Given the description of an element on the screen output the (x, y) to click on. 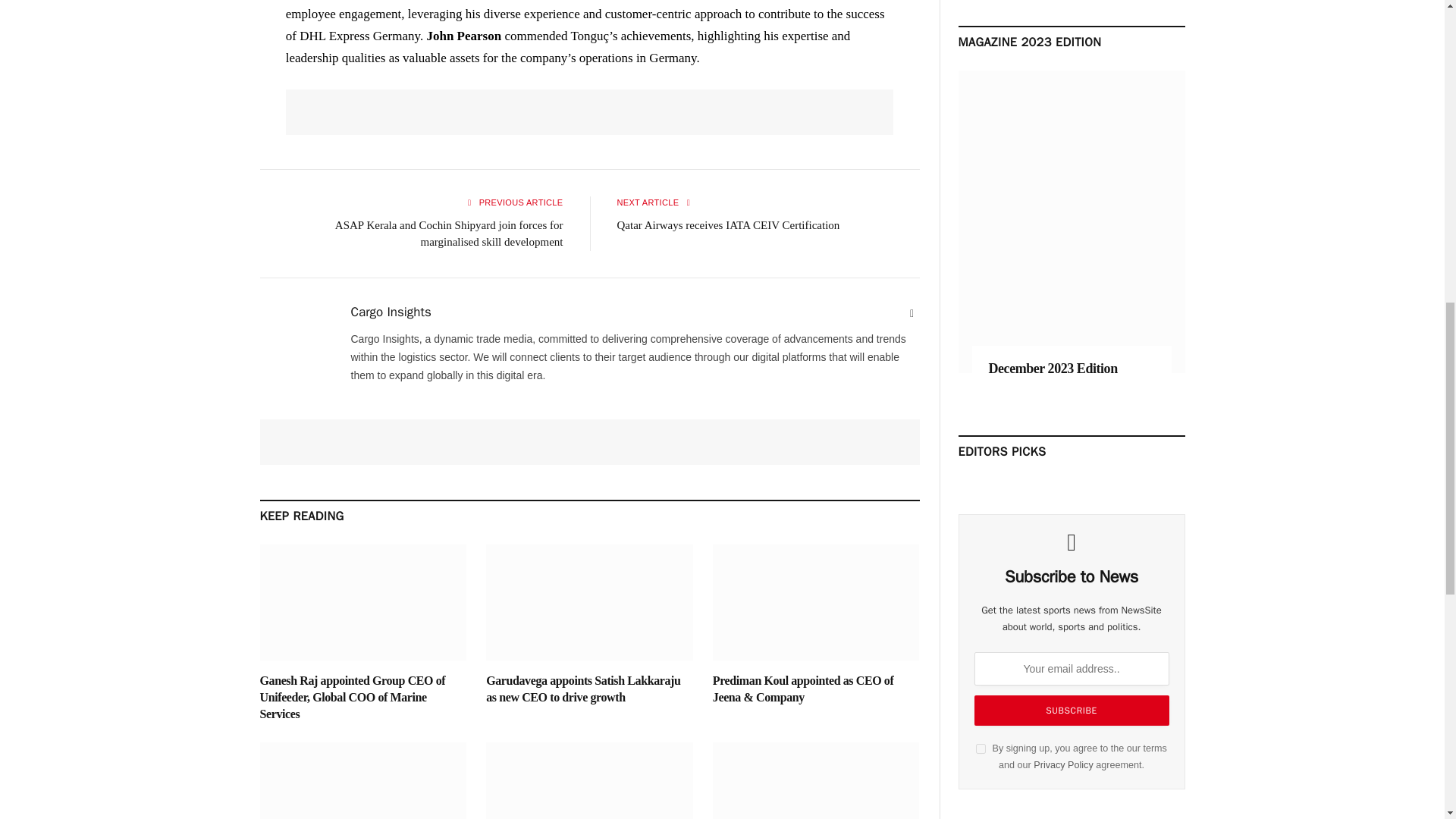
Subscribe (1071, 710)
on (980, 748)
